Given the description of an element on the screen output the (x, y) to click on. 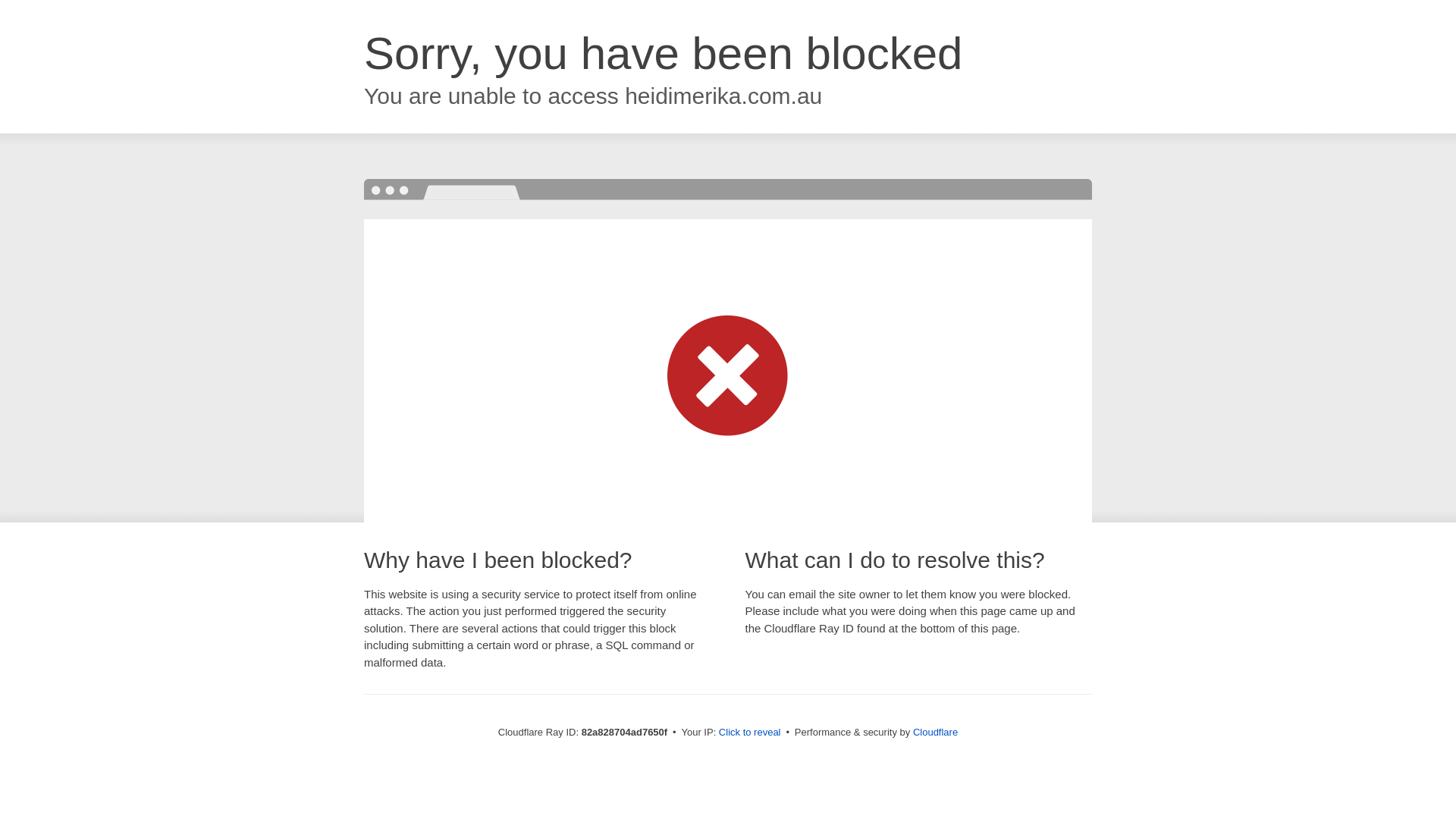
Click to reveal Element type: text (749, 732)
Cloudflare Element type: text (935, 731)
